Given the description of an element on the screen output the (x, y) to click on. 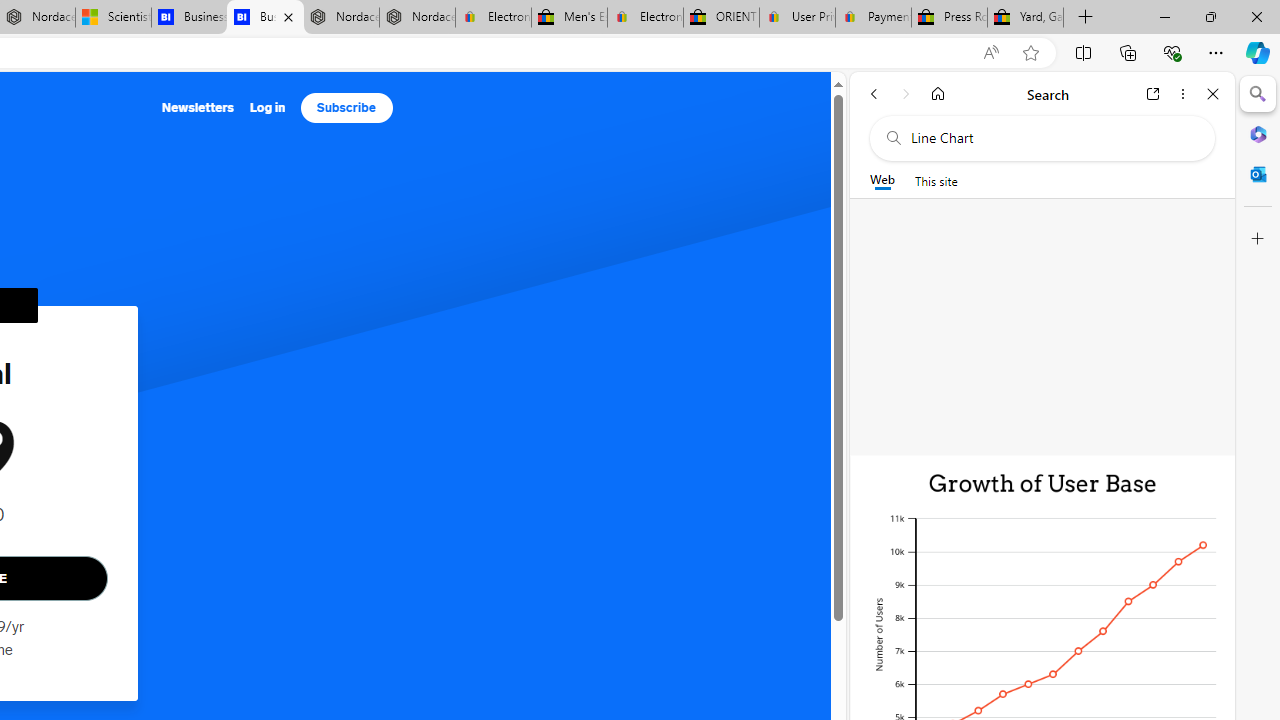
Newsletters (198, 107)
